Given the description of an element on the screen output the (x, y) to click on. 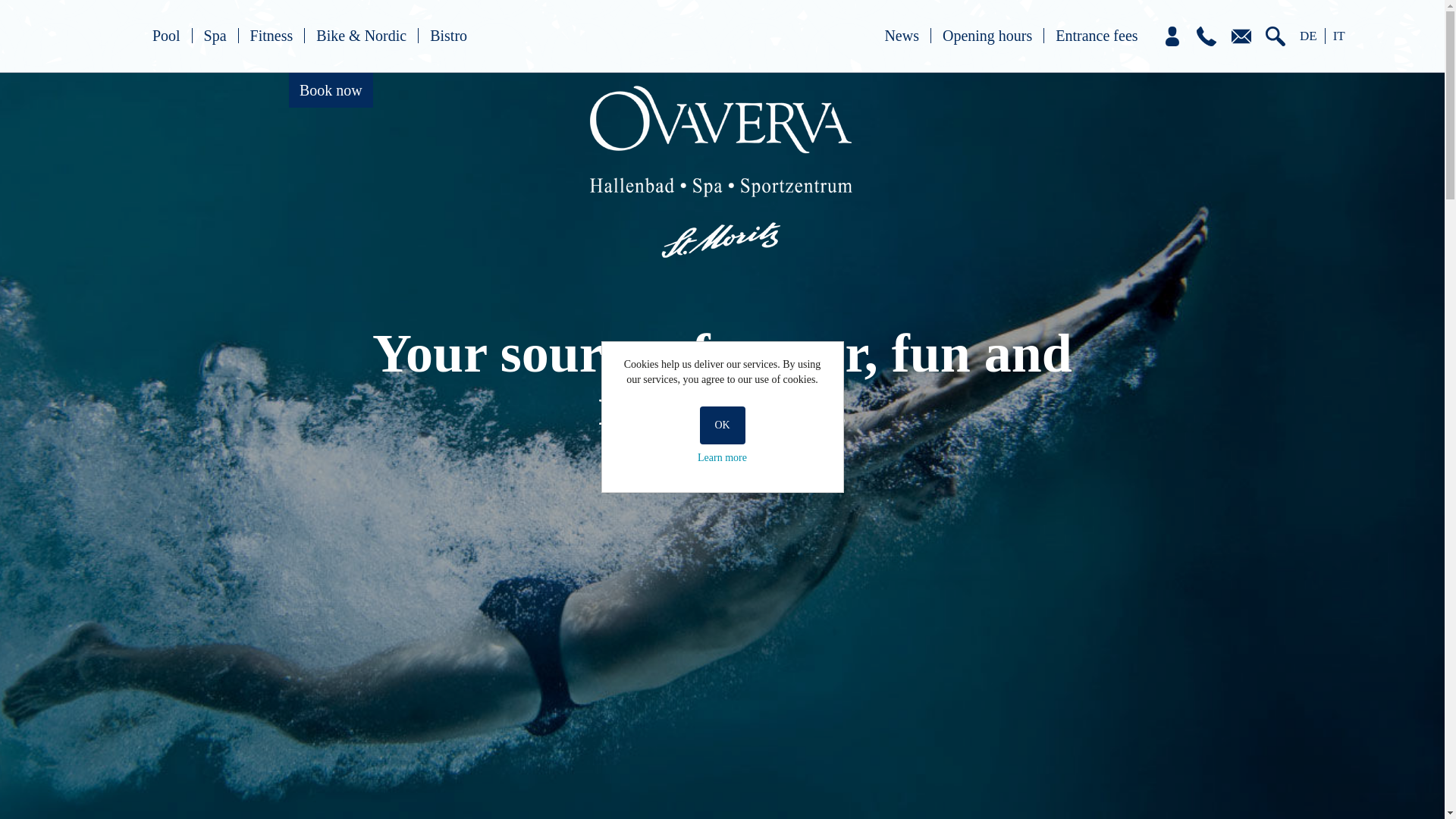
Spa (215, 35)
Pool (166, 35)
Bistro (448, 35)
Book now (330, 89)
Fitness (272, 35)
DE (1308, 35)
